Given the description of an element on the screen output the (x, y) to click on. 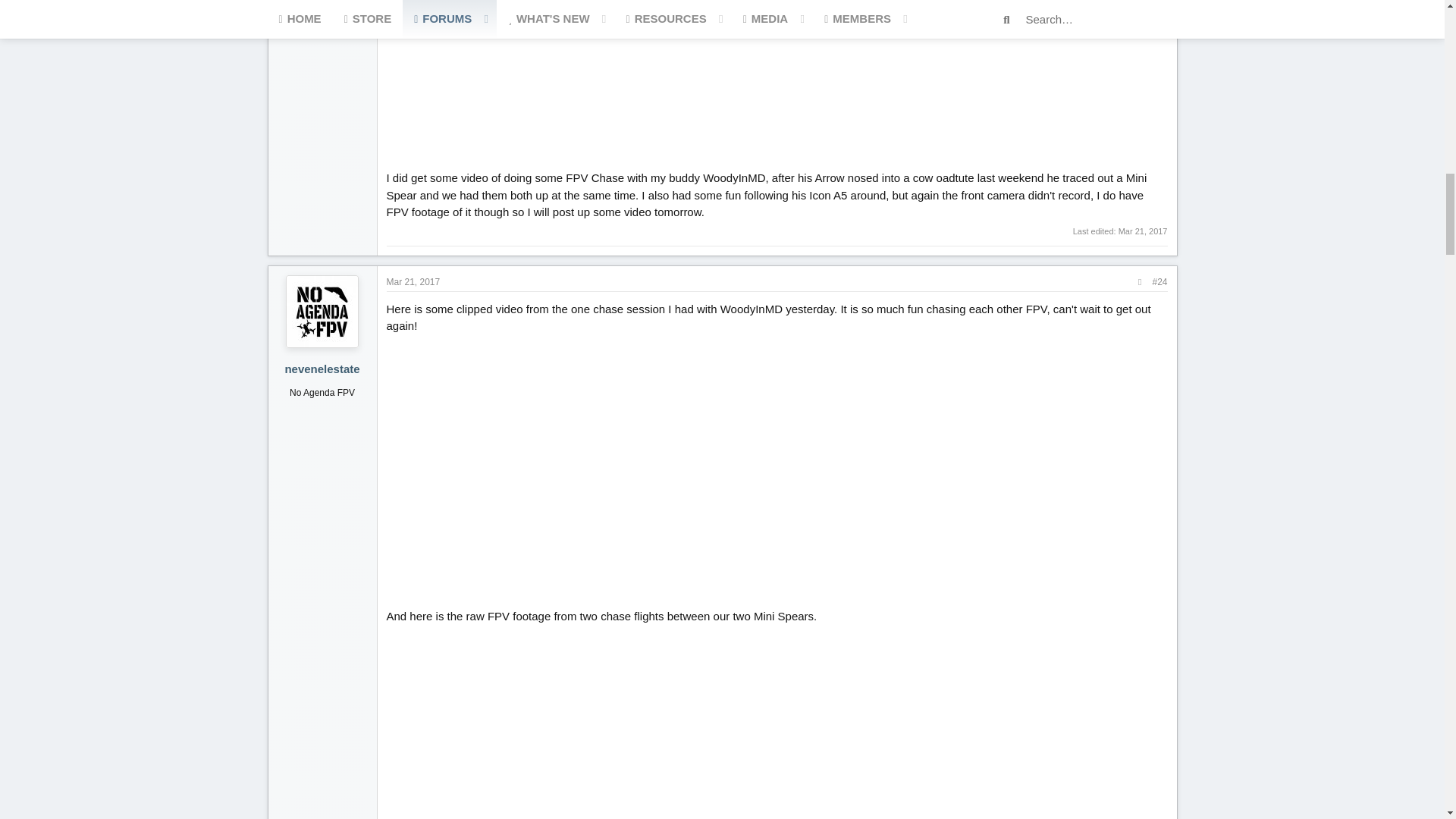
Mar 21, 2017 at 1:37 PM (414, 281)
Mar 21, 2017 at 11:46 AM (1142, 230)
